Given the description of an element on the screen output the (x, y) to click on. 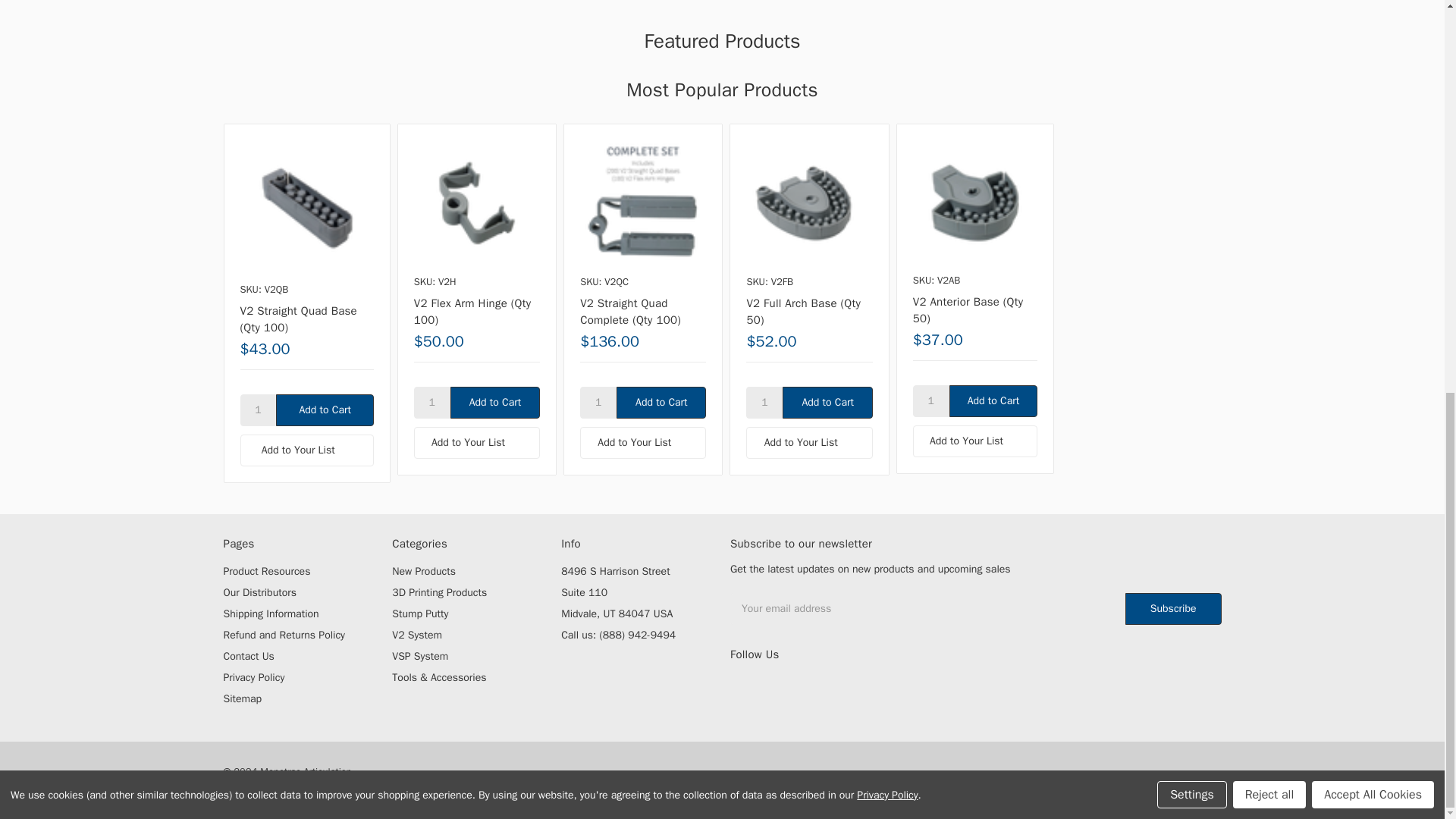
1 (930, 400)
Subscribe (1173, 608)
V2 Flex Arm Hinge (476, 203)
V2 Straight Quad Complete (642, 203)
Add to Cart (324, 409)
Add to Your List (306, 450)
Add to Your List (642, 442)
V2 Straight Quad Base (306, 206)
Add to Your List (306, 450)
1 (258, 409)
Add to Cart (827, 402)
Add to Cart (324, 409)
V2 Full Arch Base (808, 203)
Add to Cart (992, 400)
Add to Cart (494, 402)
